Given the description of an element on the screen output the (x, y) to click on. 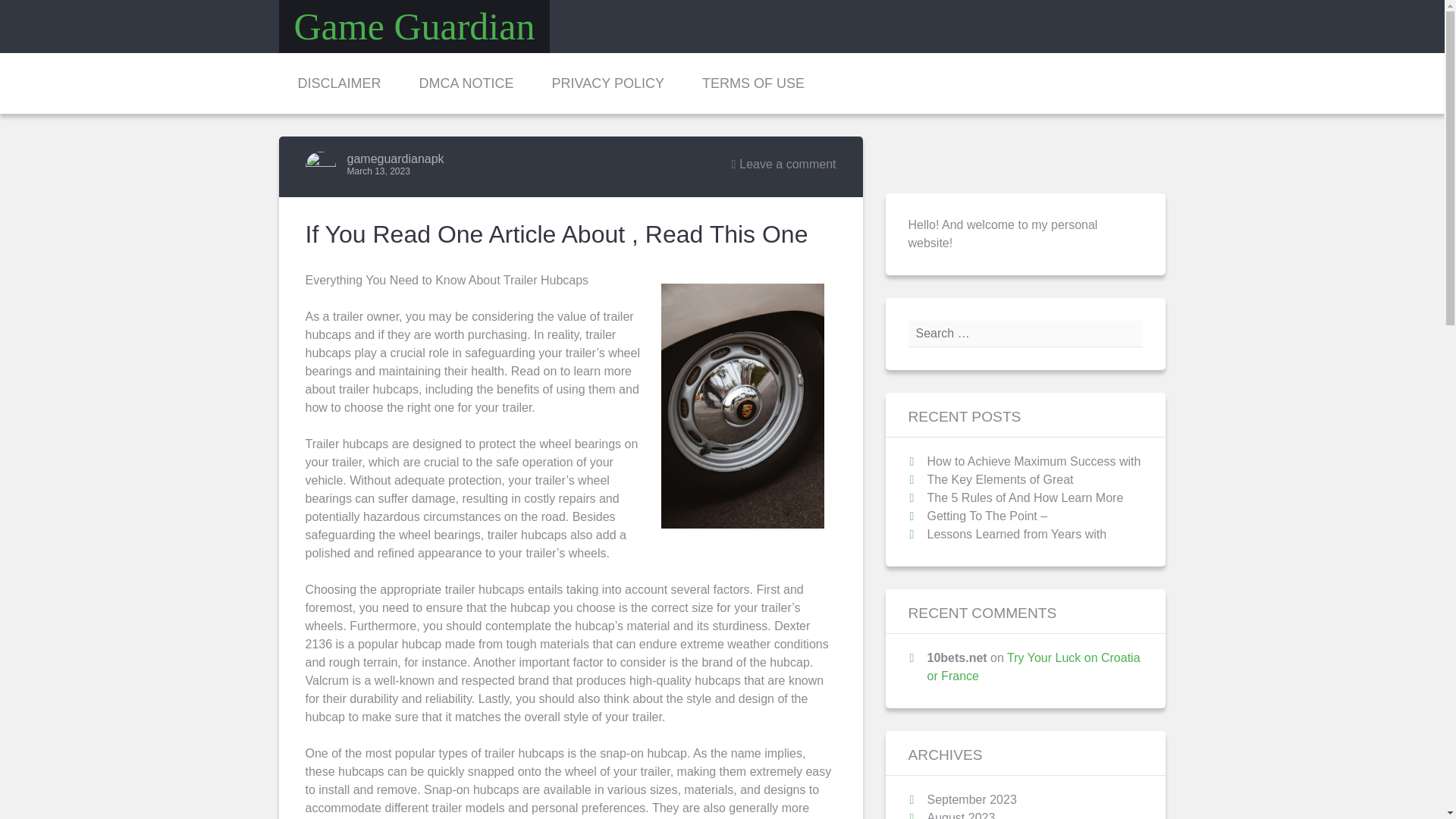
August 2023 (960, 815)
DMCA NOTICE (466, 83)
Search (37, 12)
TERMS OF USE (753, 83)
The 5 Rules of And How Learn More (1024, 497)
10bets.net (956, 657)
PRIVACY POLICY (607, 83)
Leave a comment (782, 164)
The Key Elements of Great (999, 479)
Lessons Learned from Years with (1016, 533)
March 13, 2023 (378, 171)
How to Achieve Maximum Success with (1033, 461)
Game Guardian (414, 25)
DISCLAIMER (339, 83)
Try Your Luck on Croatia or France (1033, 666)
